Given the description of an element on the screen output the (x, y) to click on. 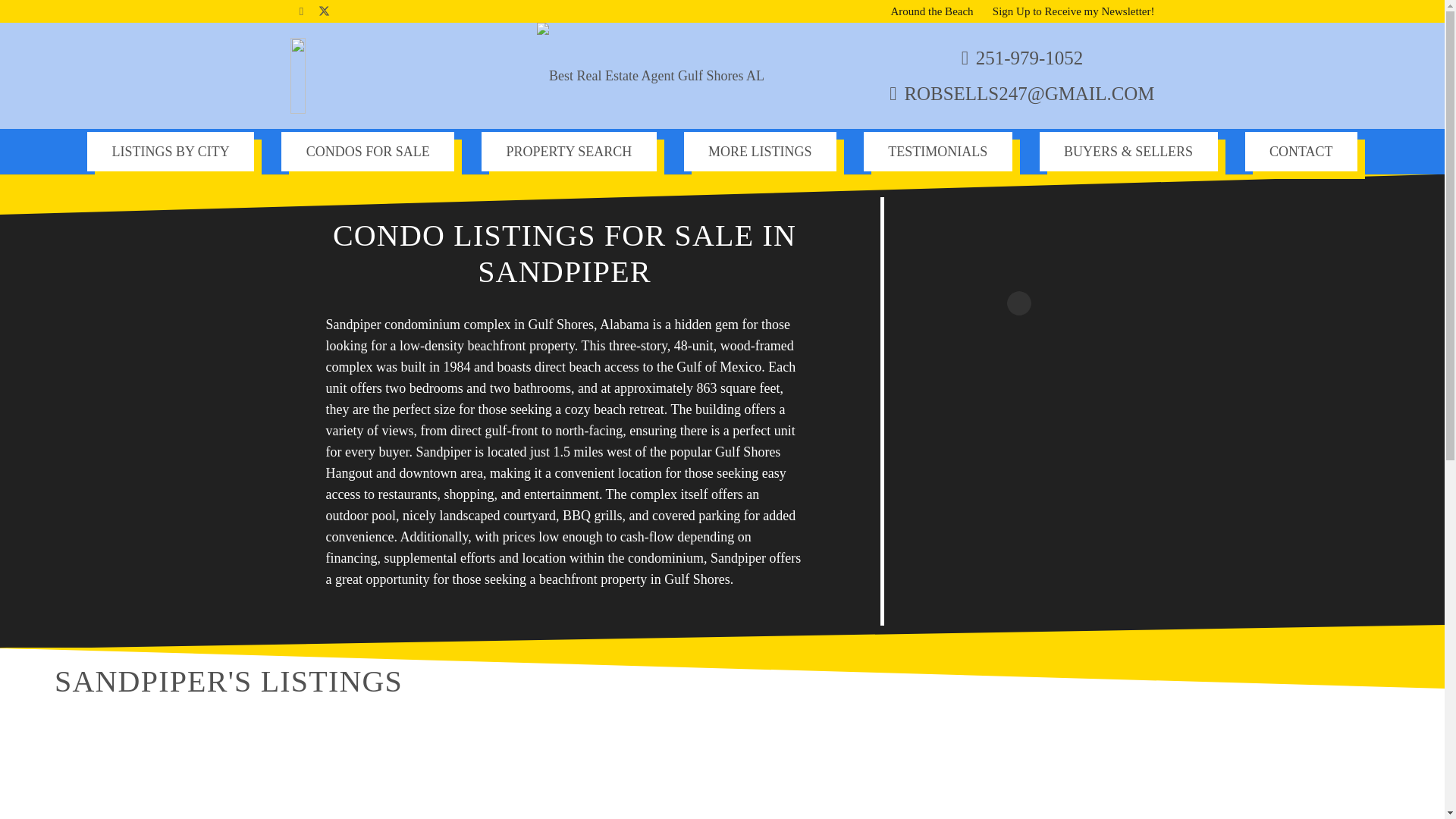
CONDOS FOR SALE (367, 150)
Sign Up to Receive my Newsletter! (1073, 10)
Property Search (568, 150)
LISTINGS BY CITY (170, 150)
Contact (1300, 150)
MORE LISTINGS (759, 150)
251-979-1052 (1021, 57)
Twitter (323, 11)
Facebook (301, 11)
Around the Beach (930, 10)
